Given the description of an element on the screen output the (x, y) to click on. 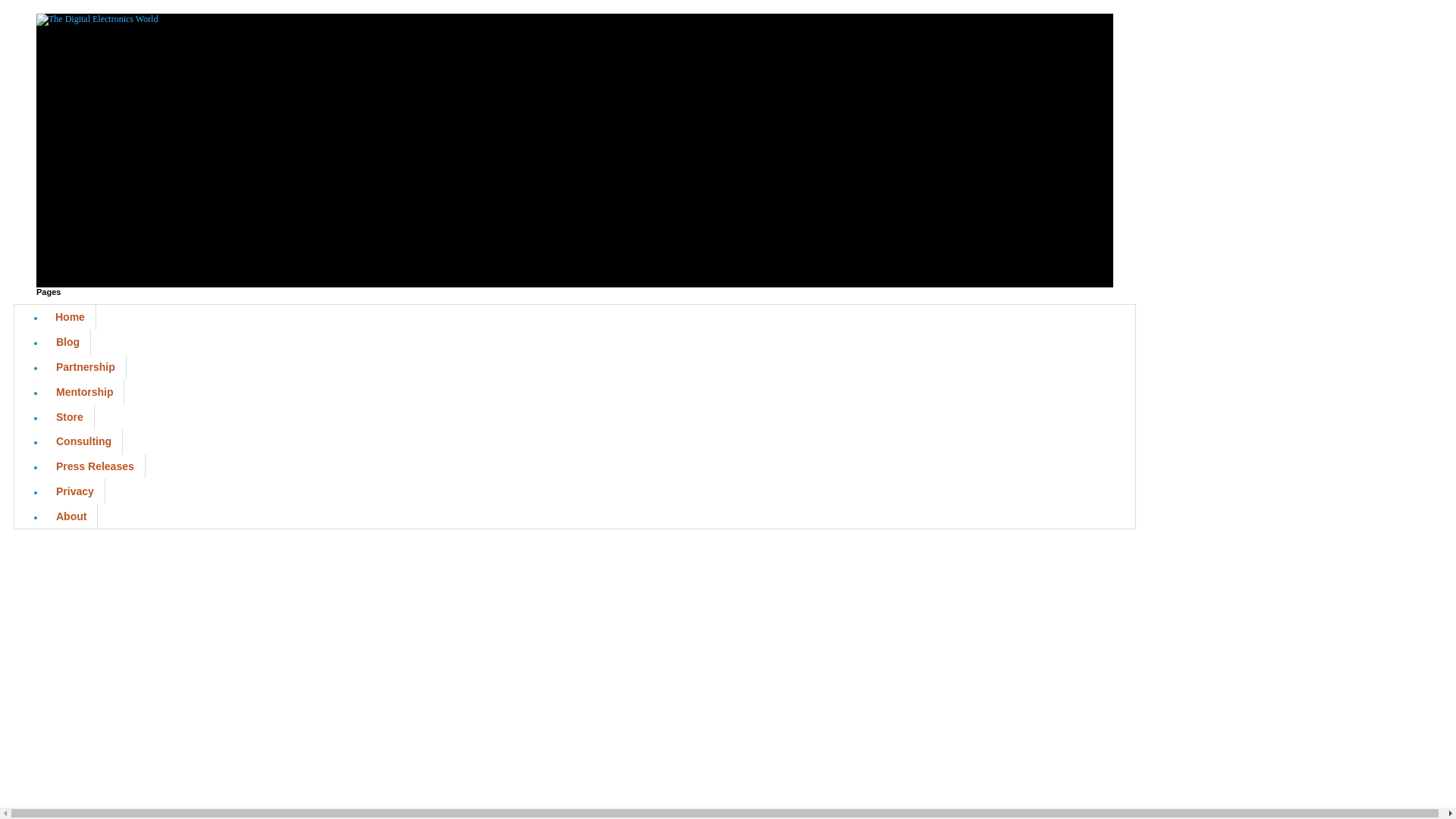
Store (69, 416)
Blog (67, 342)
Consulting (83, 441)
Privacy (74, 490)
Home (70, 317)
Mentorship (84, 391)
About (71, 515)
Partnership (85, 367)
Press Releases (95, 466)
